Given the description of an element on the screen output the (x, y) to click on. 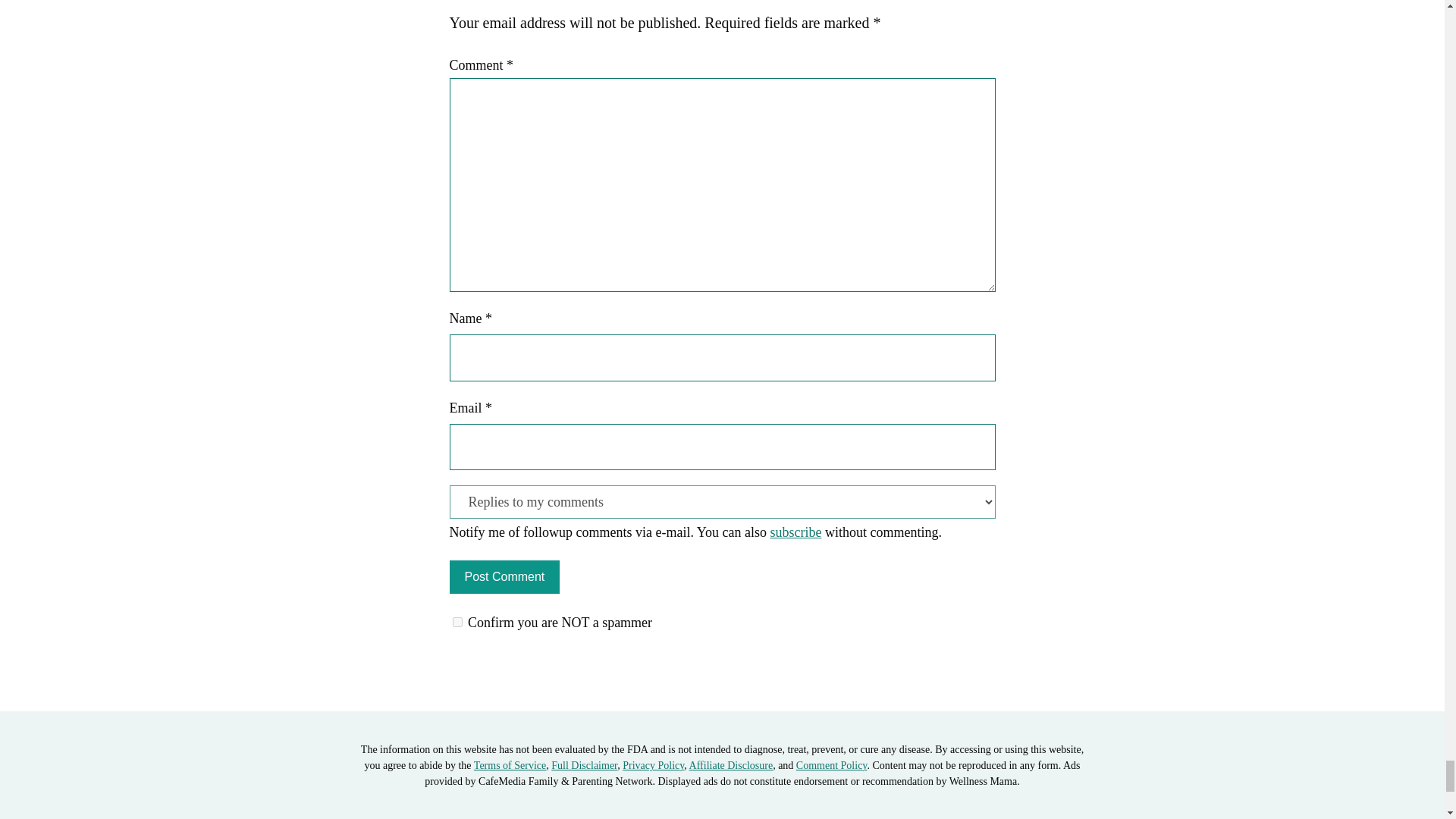
Post Comment (503, 576)
on (456, 622)
